Given the description of an element on the screen output the (x, y) to click on. 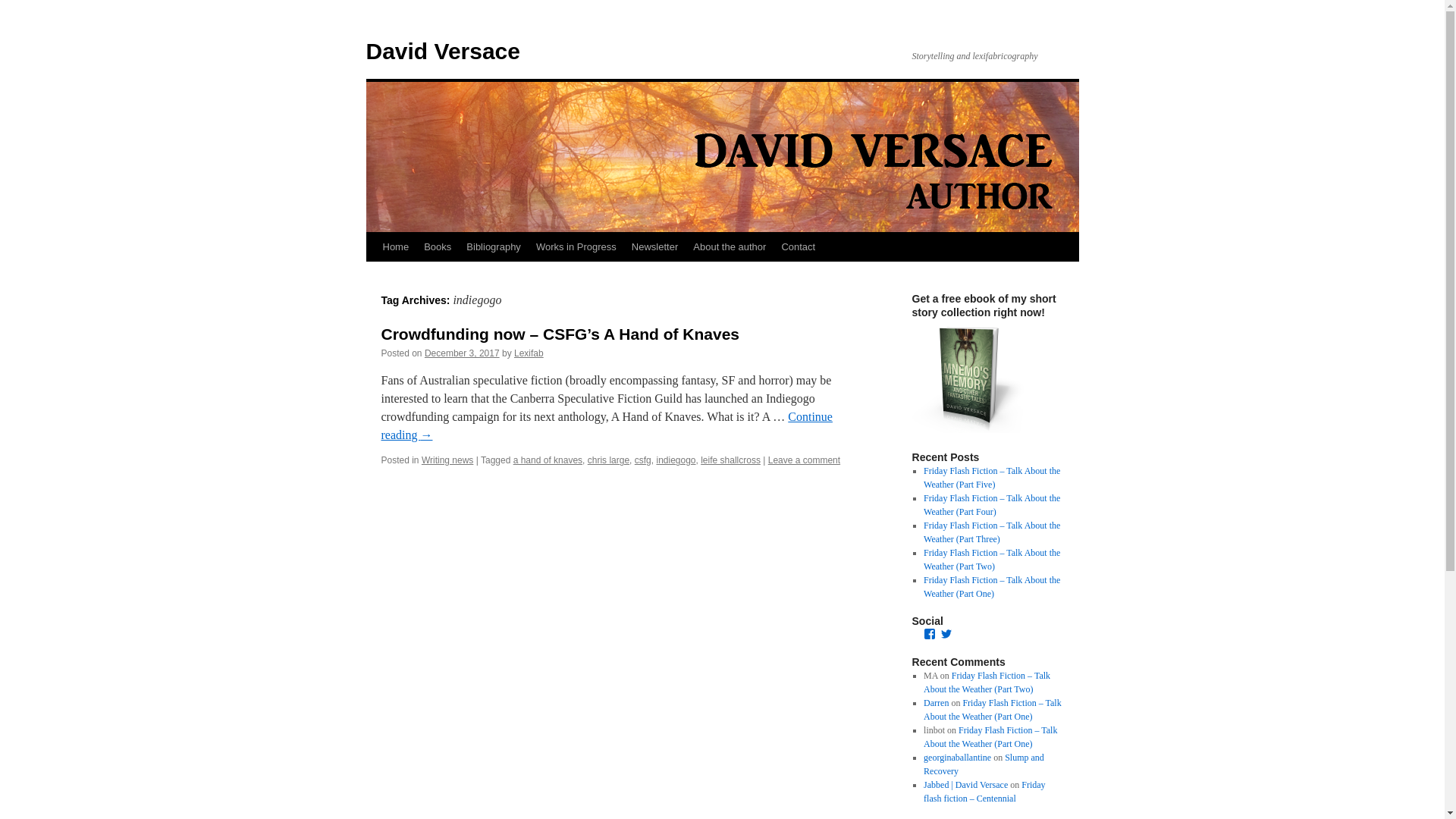
leife shallcross (730, 460)
About the author (729, 246)
Works in Progress (576, 246)
Writing news (447, 460)
Newsletter (654, 246)
Contact (797, 246)
Books (437, 246)
chris large (608, 460)
Darren (936, 702)
8:42 am (462, 353)
Leave a comment (804, 460)
Home (395, 246)
a hand of knaves (547, 460)
Bibliography (493, 246)
December 3, 2017 (462, 353)
